Given the description of an element on the screen output the (x, y) to click on. 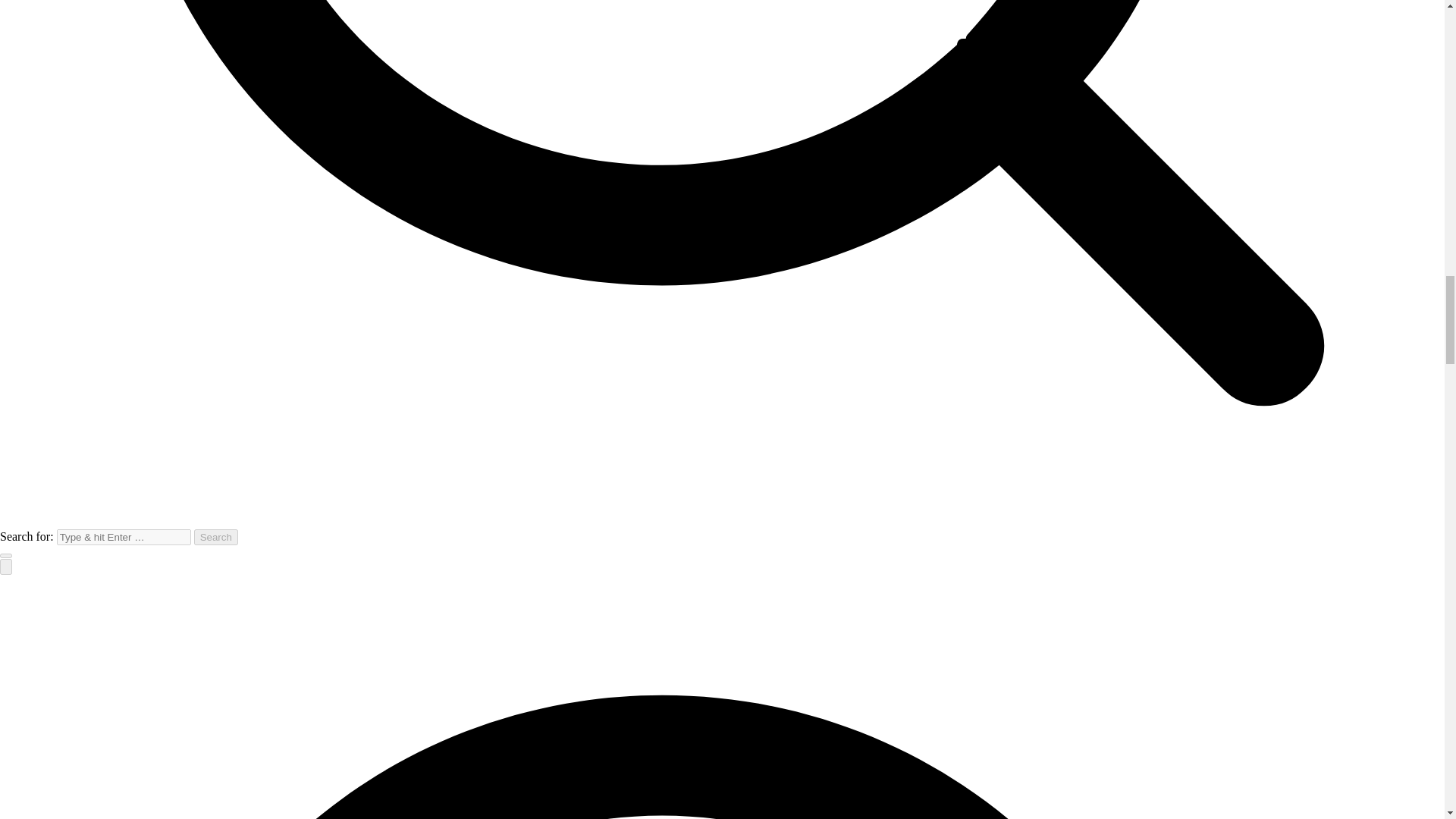
Search (215, 537)
Search (215, 537)
Search (215, 537)
Search for: (123, 537)
